Given the description of an element on the screen output the (x, y) to click on. 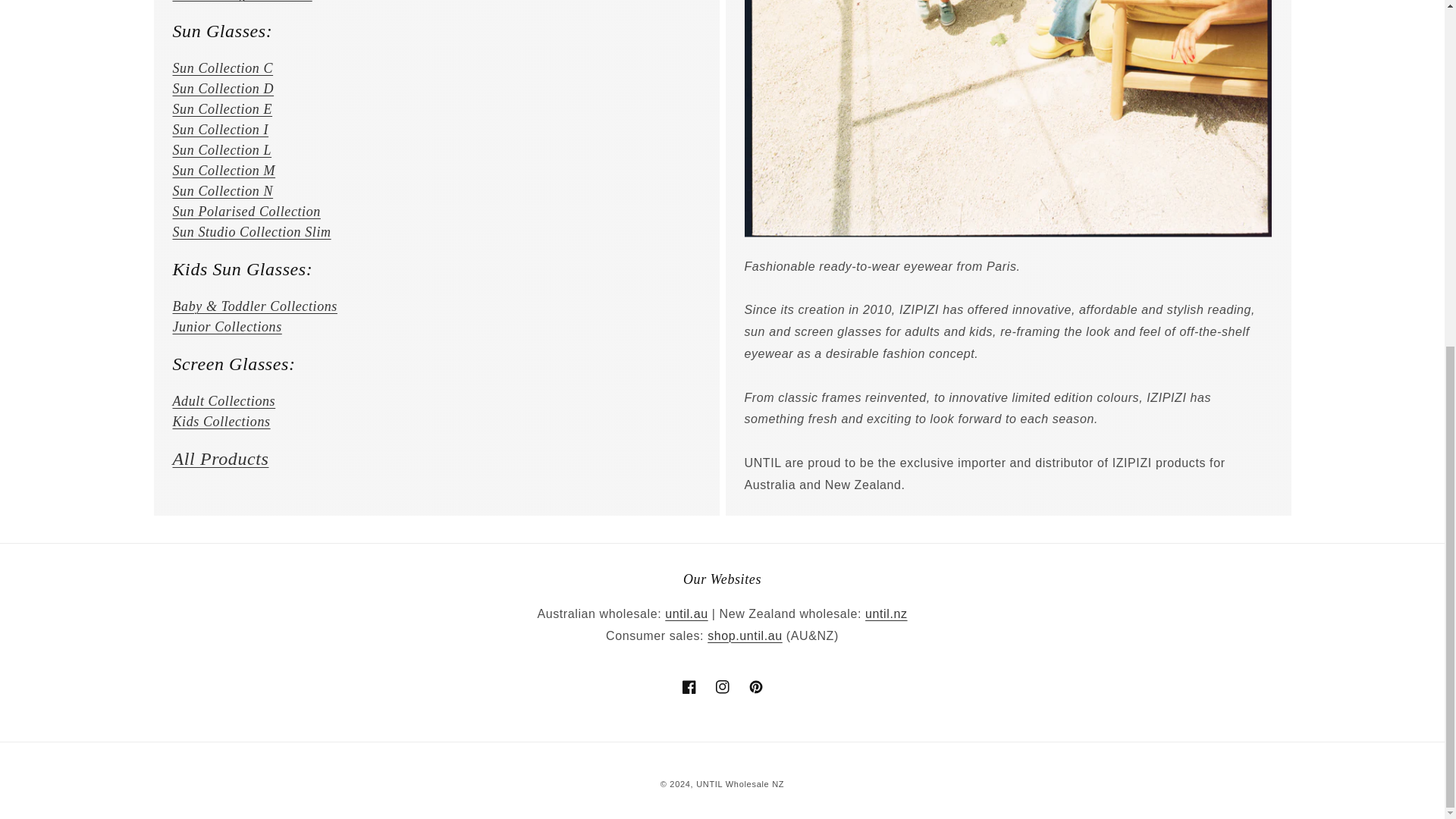
IZIPIZI Sun Collection L (222, 150)
IZIPIZI Sun Reading Collection (243, 0)
IZIPIZI Sun Collection I (221, 129)
IZIPIZI Sun Collection E (223, 109)
IZIPIZI Sun Collection M (224, 170)
IZIPIZI Sun Collection D (224, 88)
IZIPIZI Sun Collection C (223, 68)
IZIPIZI Sun Collection N (223, 191)
